Given the description of an element on the screen output the (x, y) to click on. 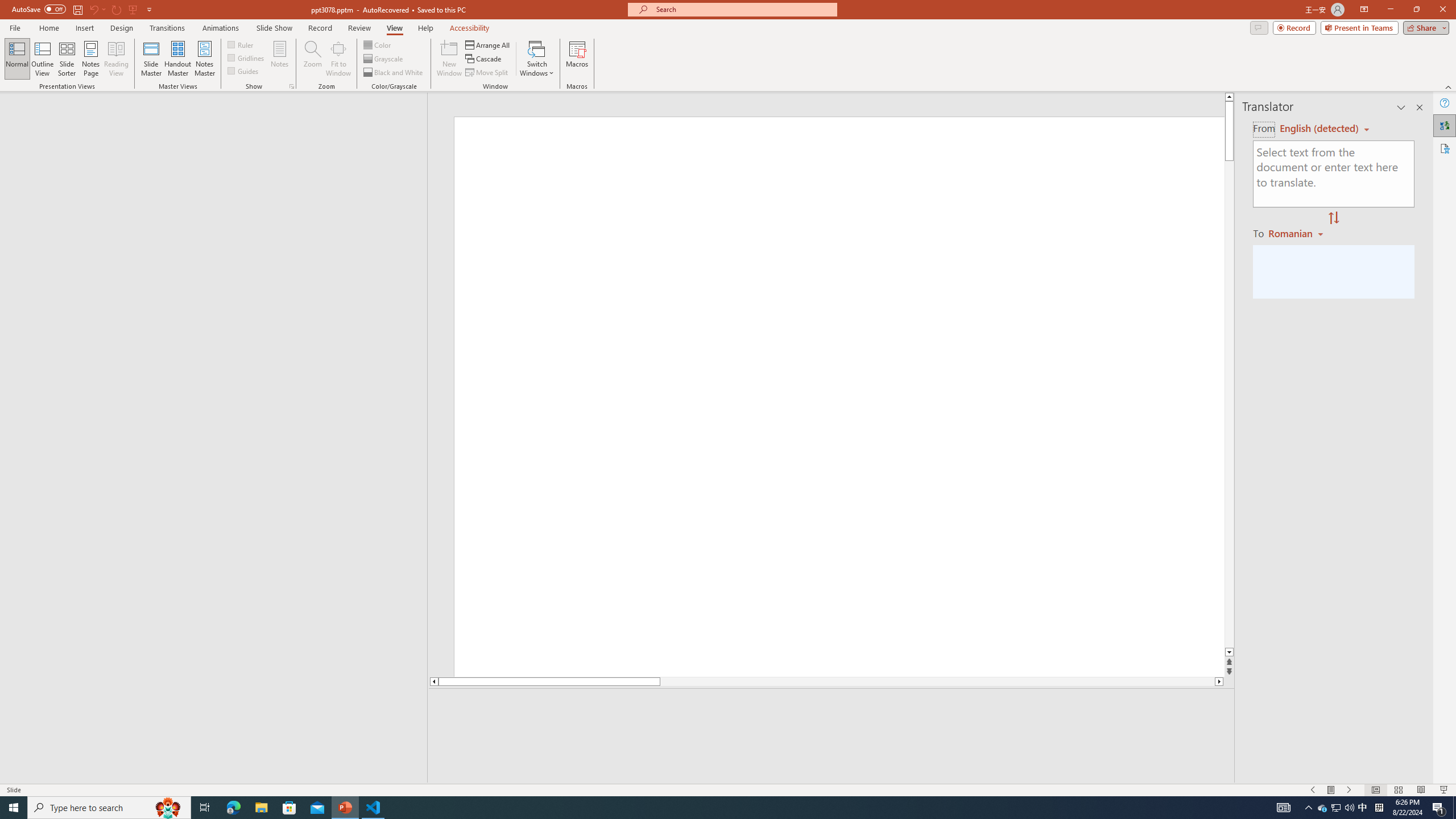
Grid Settings... (291, 85)
Move Split (487, 72)
Translator (1444, 125)
Slide Show Previous On (1313, 790)
